Given the description of an element on the screen output the (x, y) to click on. 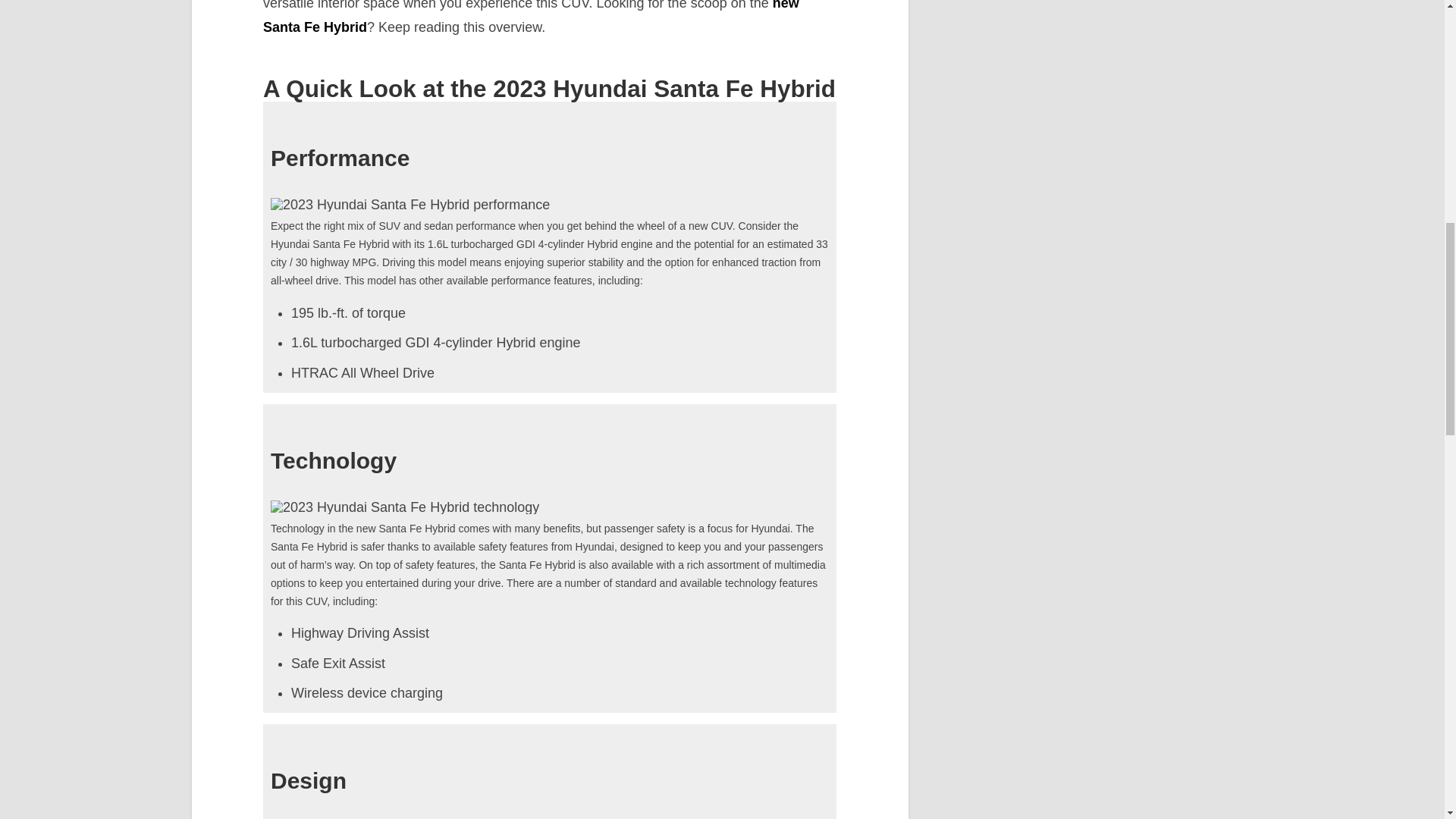
new Santa Fe Hybrid (531, 17)
